Given the description of an element on the screen output the (x, y) to click on. 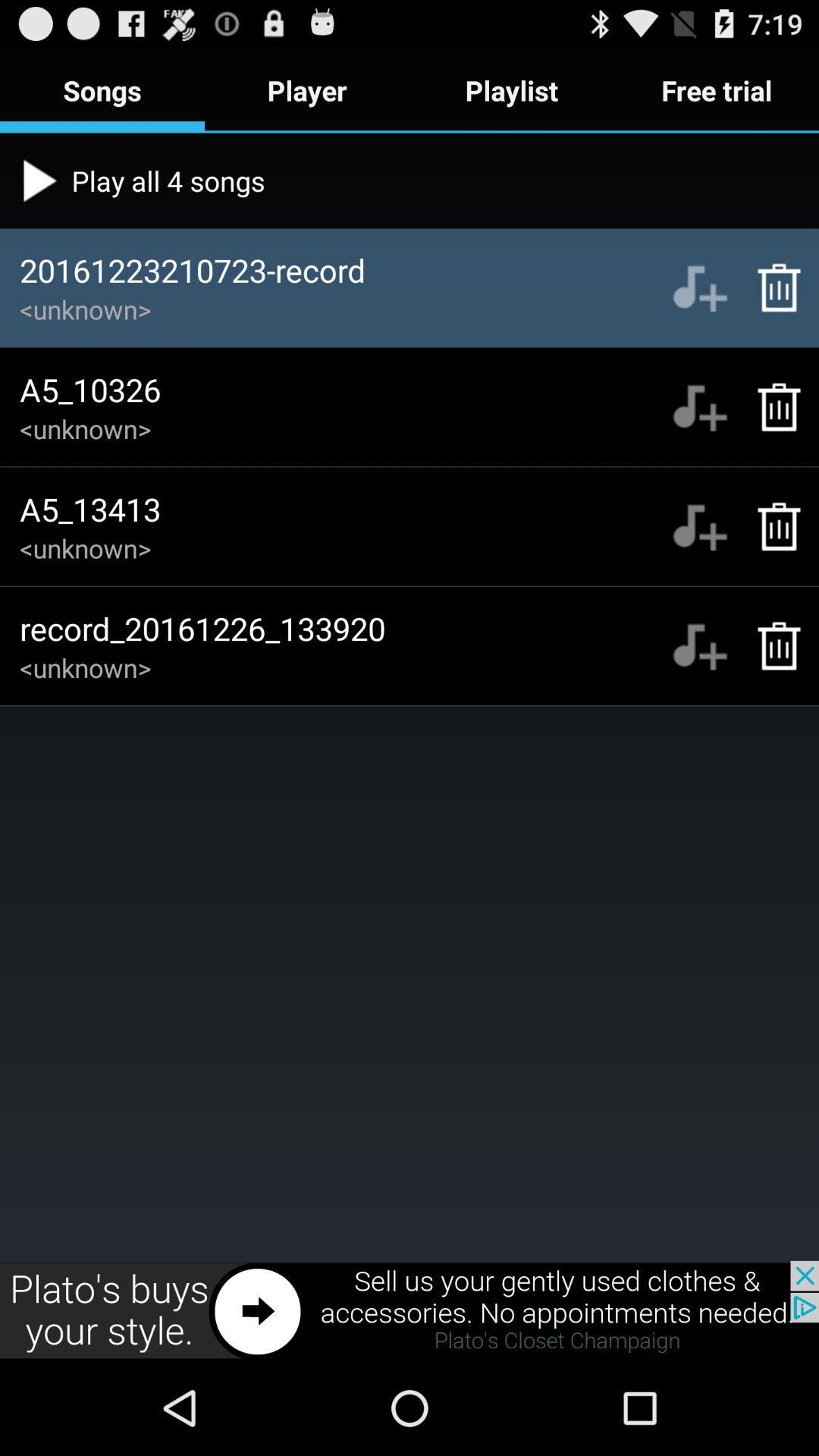
add to playlist (699, 526)
